Given the description of an element on the screen output the (x, y) to click on. 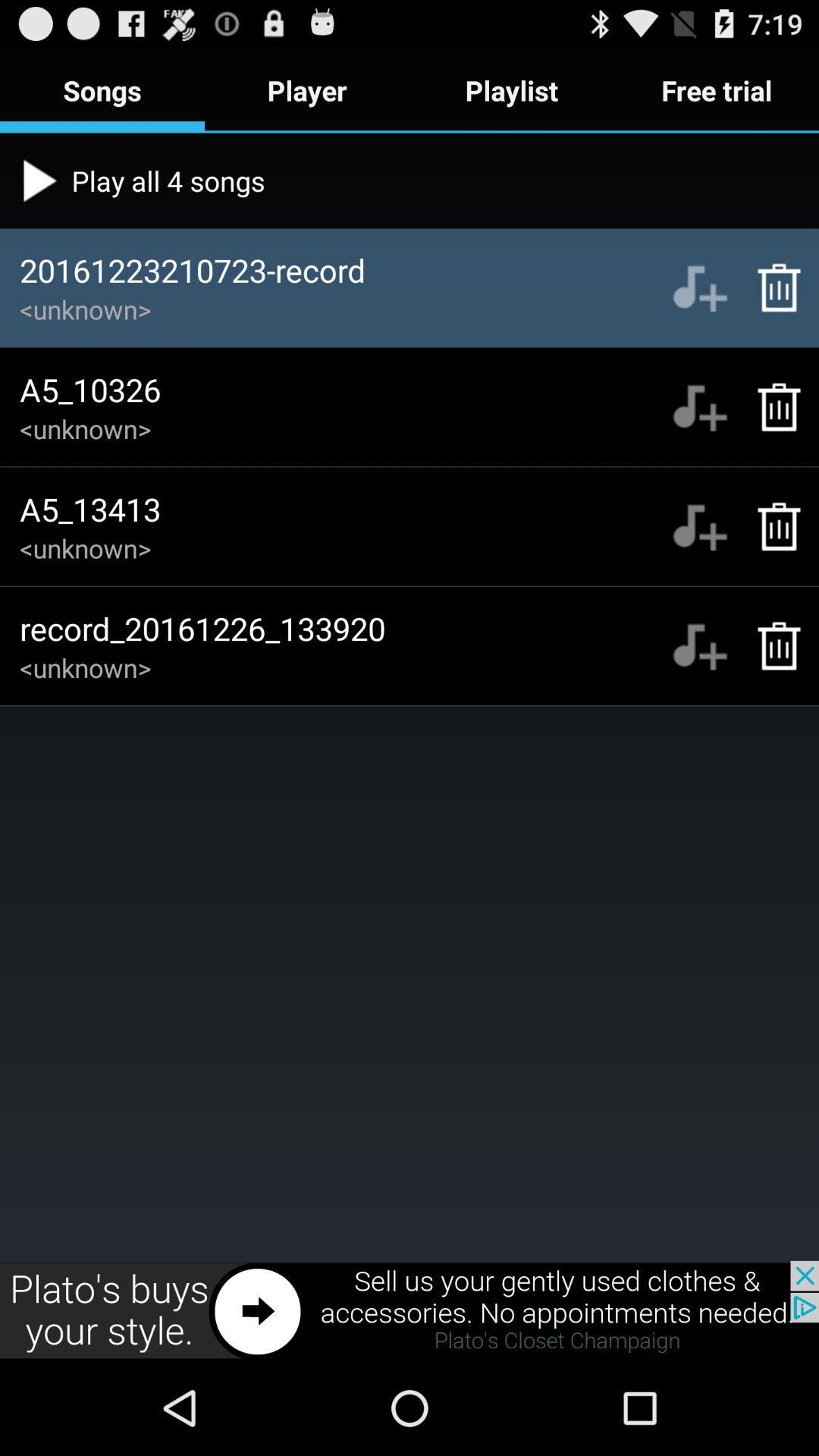
add to playlist (699, 526)
